Given the description of an element on the screen output the (x, y) to click on. 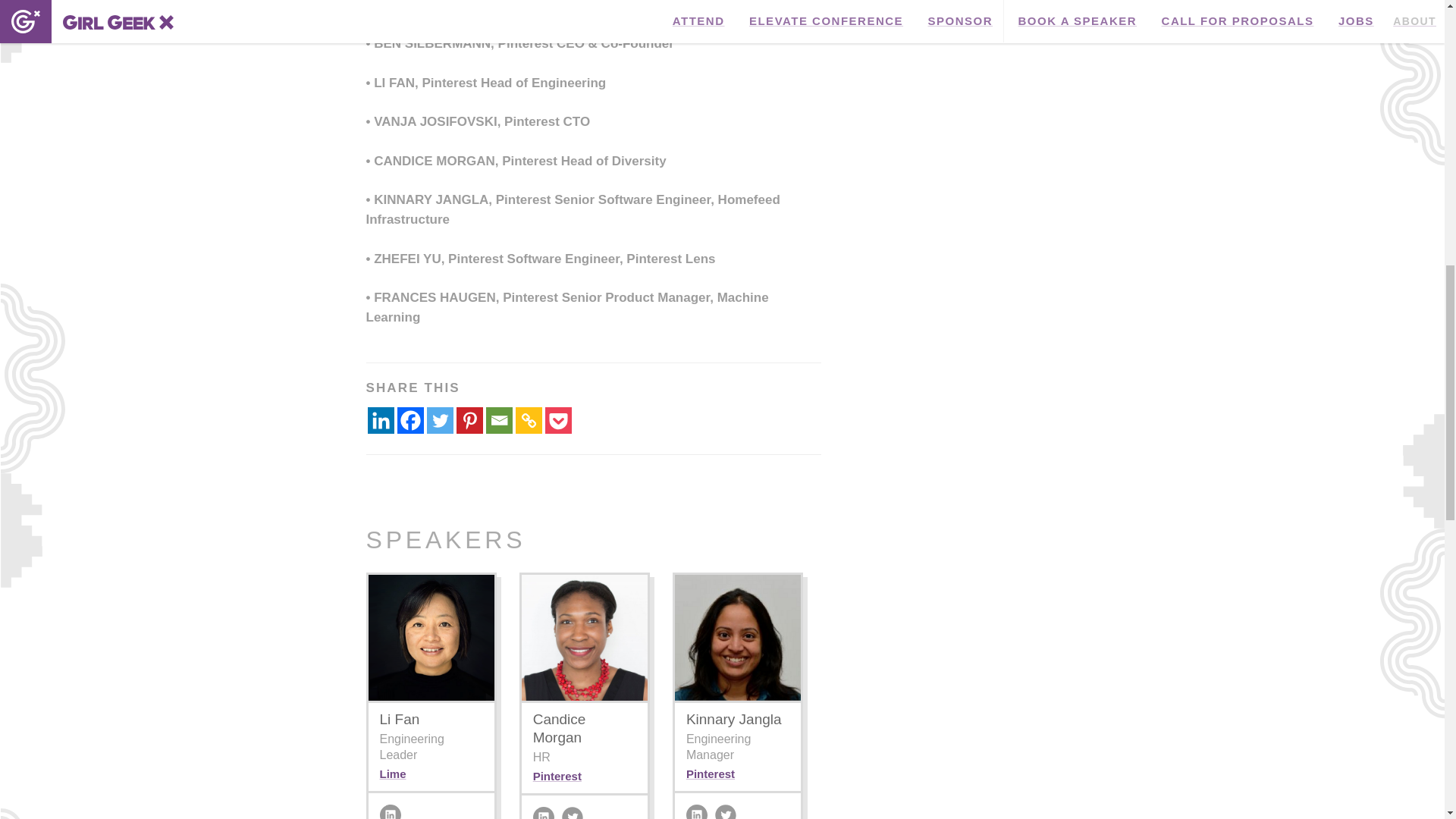
Pinterest (556, 776)
Twitter (439, 420)
Email (498, 420)
Linkedin (379, 420)
Pocket (557, 420)
Lime (392, 773)
Pinterest (710, 773)
Copy Link (528, 420)
Facebook (410, 420)
Pinterest (470, 420)
